Given the description of an element on the screen output the (x, y) to click on. 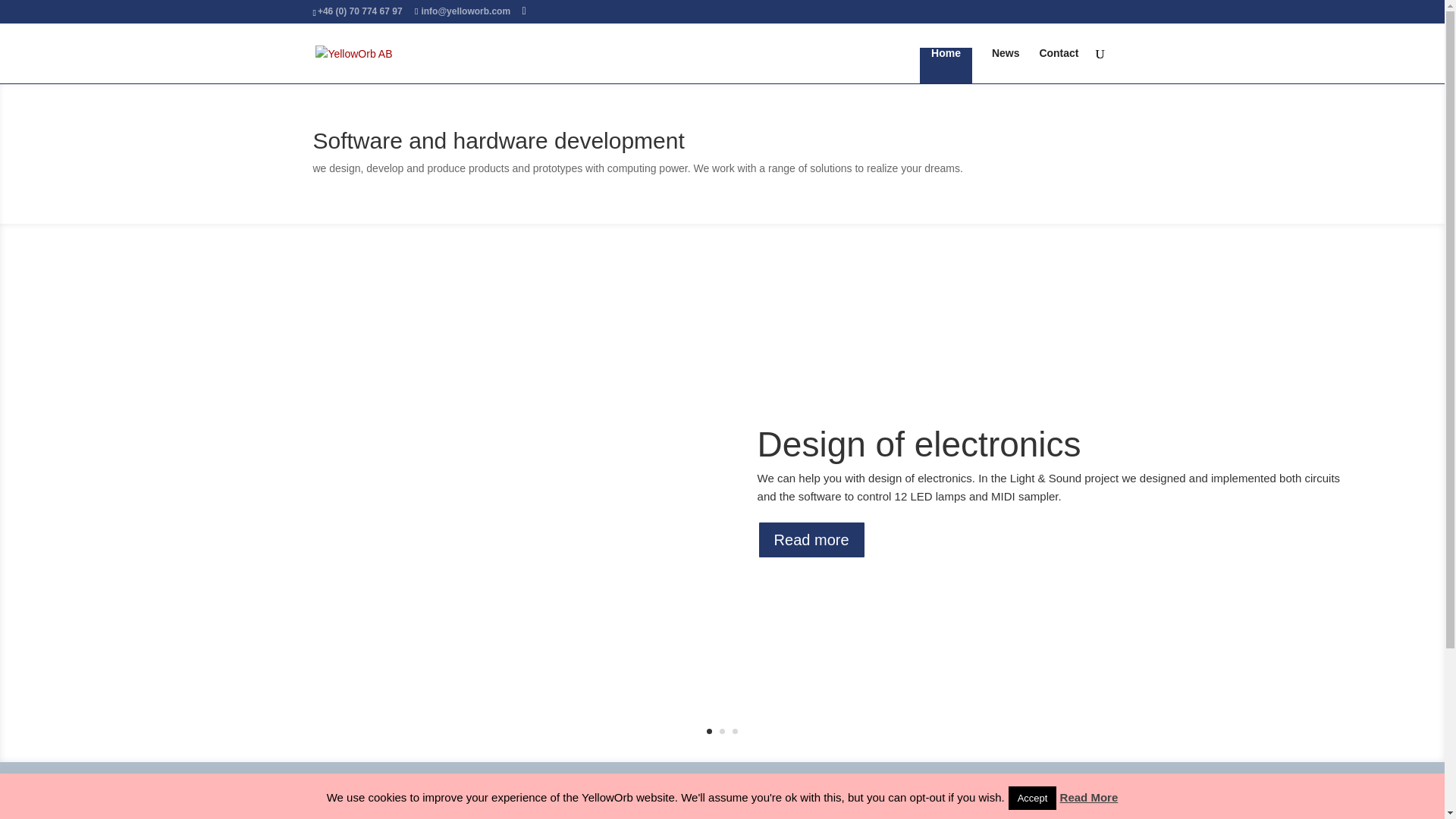
Accept (1033, 797)
Contact (1058, 65)
Home (946, 65)
Read More (1088, 797)
